Given the description of an element on the screen output the (x, y) to click on. 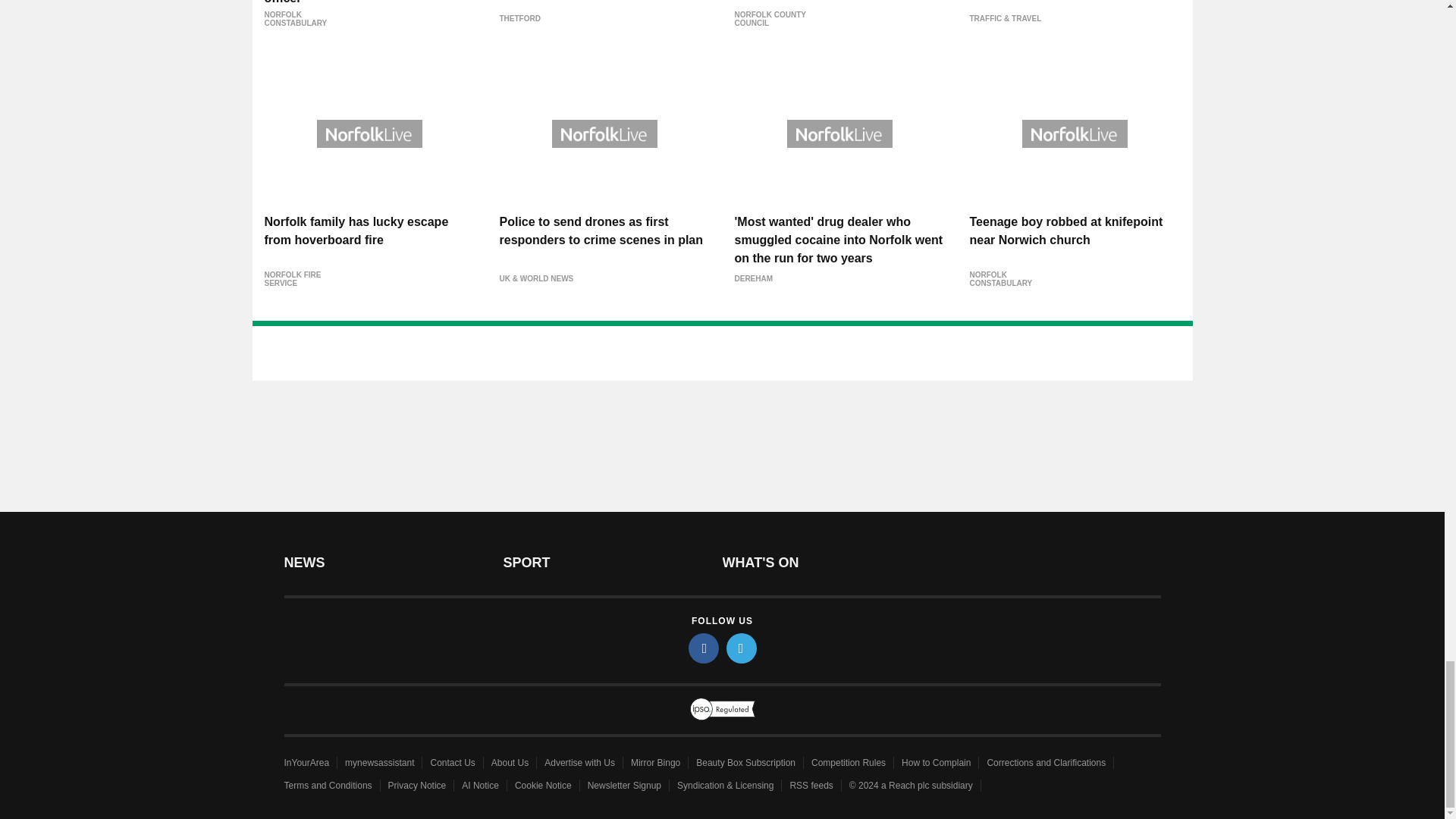
twitter (741, 648)
facebook (703, 648)
